Given the description of an element on the screen output the (x, y) to click on. 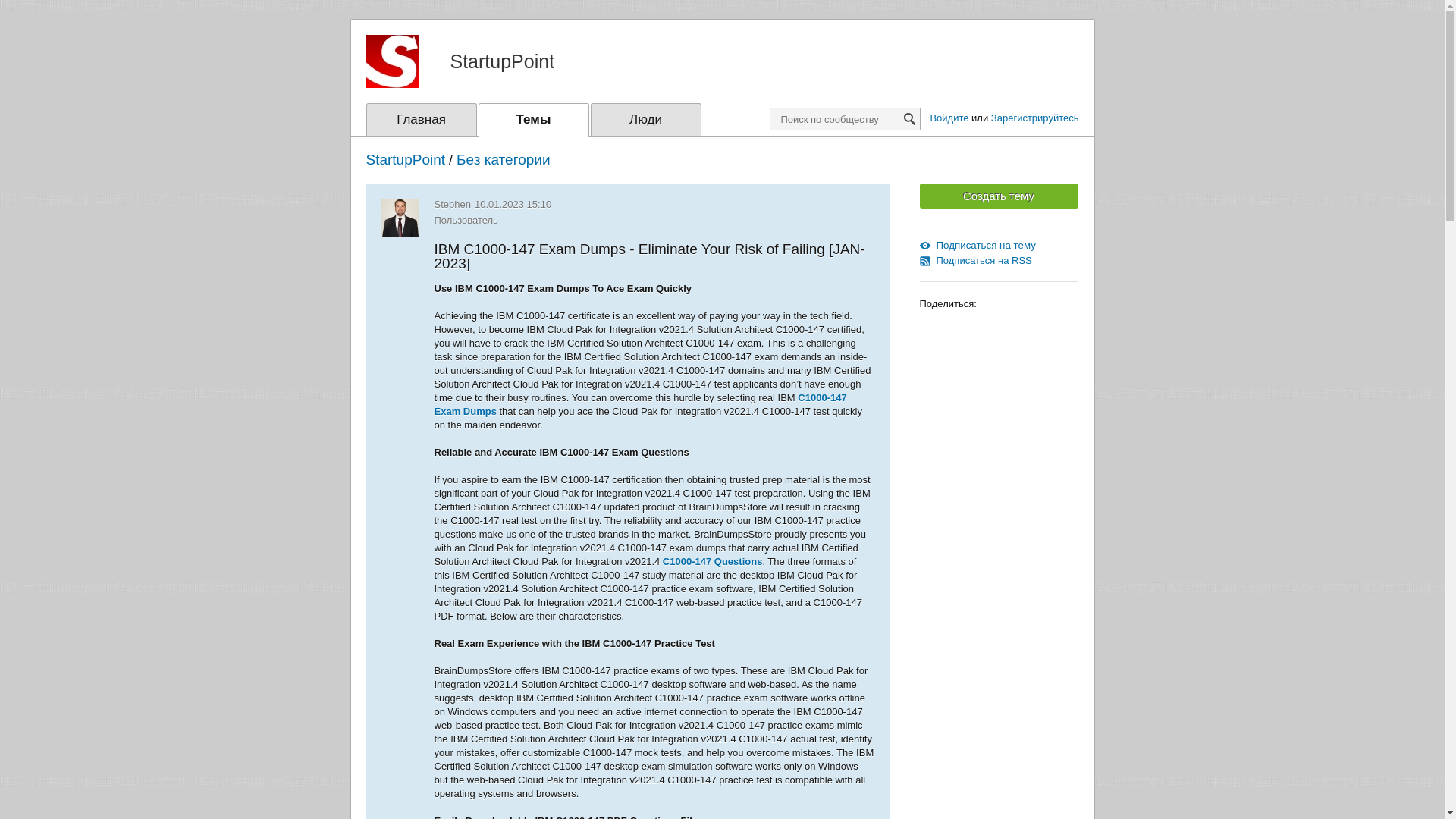
C1000-147 Questions (712, 561)
StartupPoint (501, 61)
StartupPoint (405, 159)
C1000-147 Exam Dumps (639, 404)
Stephen (451, 204)
